Given the description of an element on the screen output the (x, y) to click on. 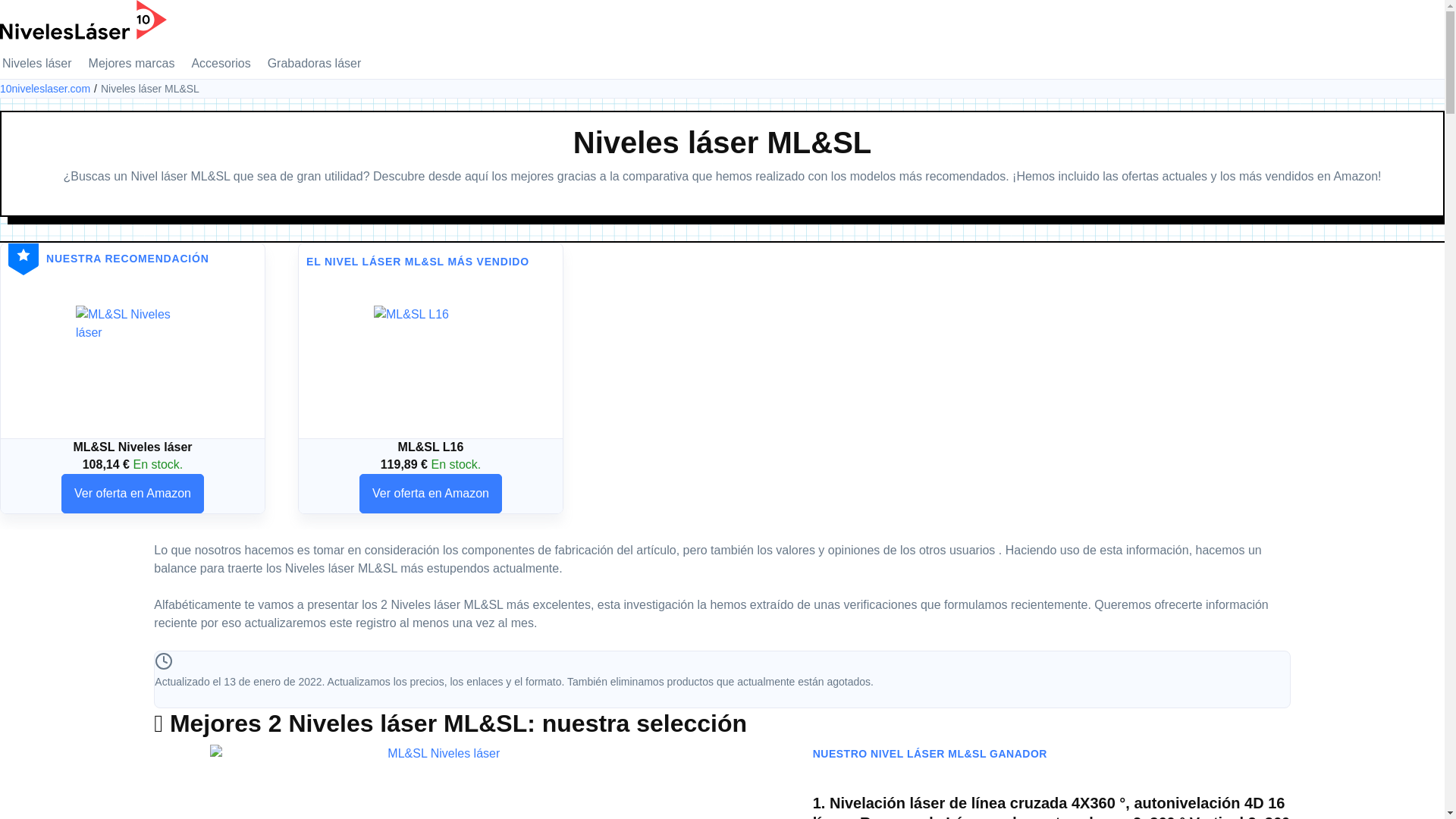
Volver al inicio Element type: hover (83, 18)
Ver oferta en Amazon Element type: text (132, 493)
ML&SL L16 Element type: text (430, 447)
Ver oferta en Amazon Element type: text (430, 493)
ML&SL L16 Element type: hover (430, 362)
Mejores marcas Element type: text (131, 63)
Accesorios Element type: text (220, 63)
ML&SL L16 Element type: hover (430, 362)
10niveleslaser.com Element type: text (50, 88)
